Given the description of an element on the screen output the (x, y) to click on. 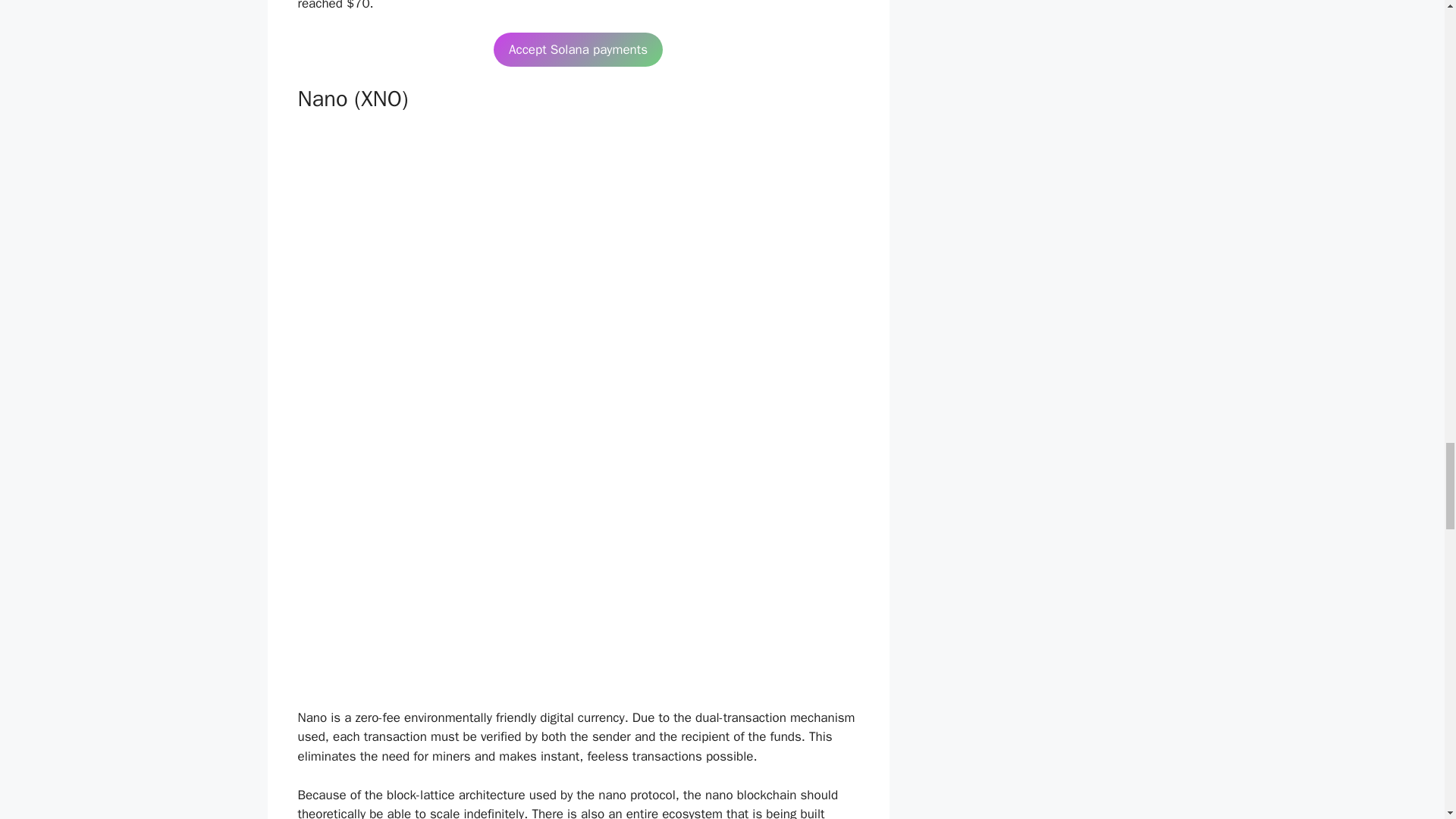
Accept Solana payments (577, 49)
